Given the description of an element on the screen output the (x, y) to click on. 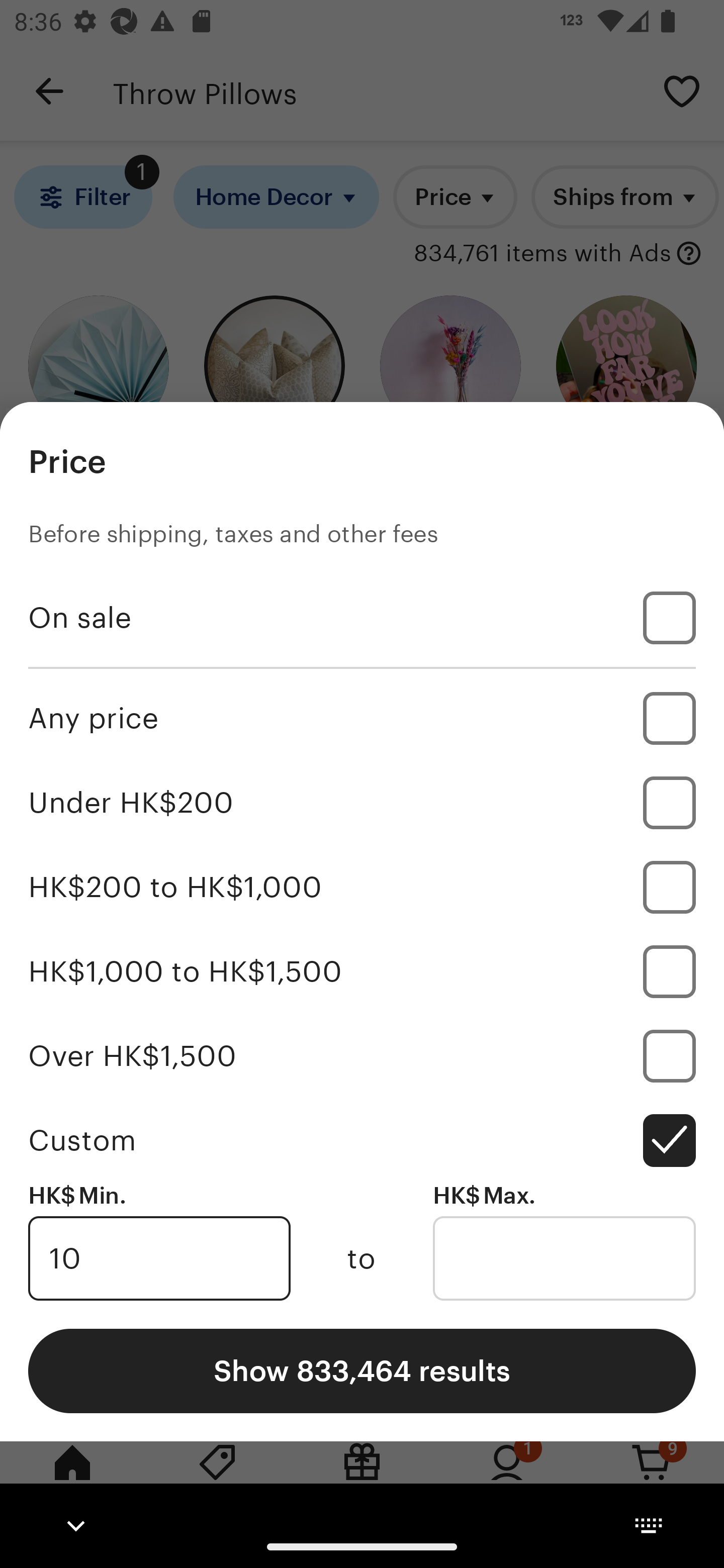
On sale (362, 617)
Any price (362, 717)
Under HK$200 (362, 802)
HK$200 to HK$1,000 (362, 887)
HK$1,000 to HK$1,500 (362, 970)
Over HK$1,500 (362, 1054)
Custom (362, 1139)
10 (159, 1257)
Show 833,464 results (361, 1370)
